Given the description of an element on the screen output the (x, y) to click on. 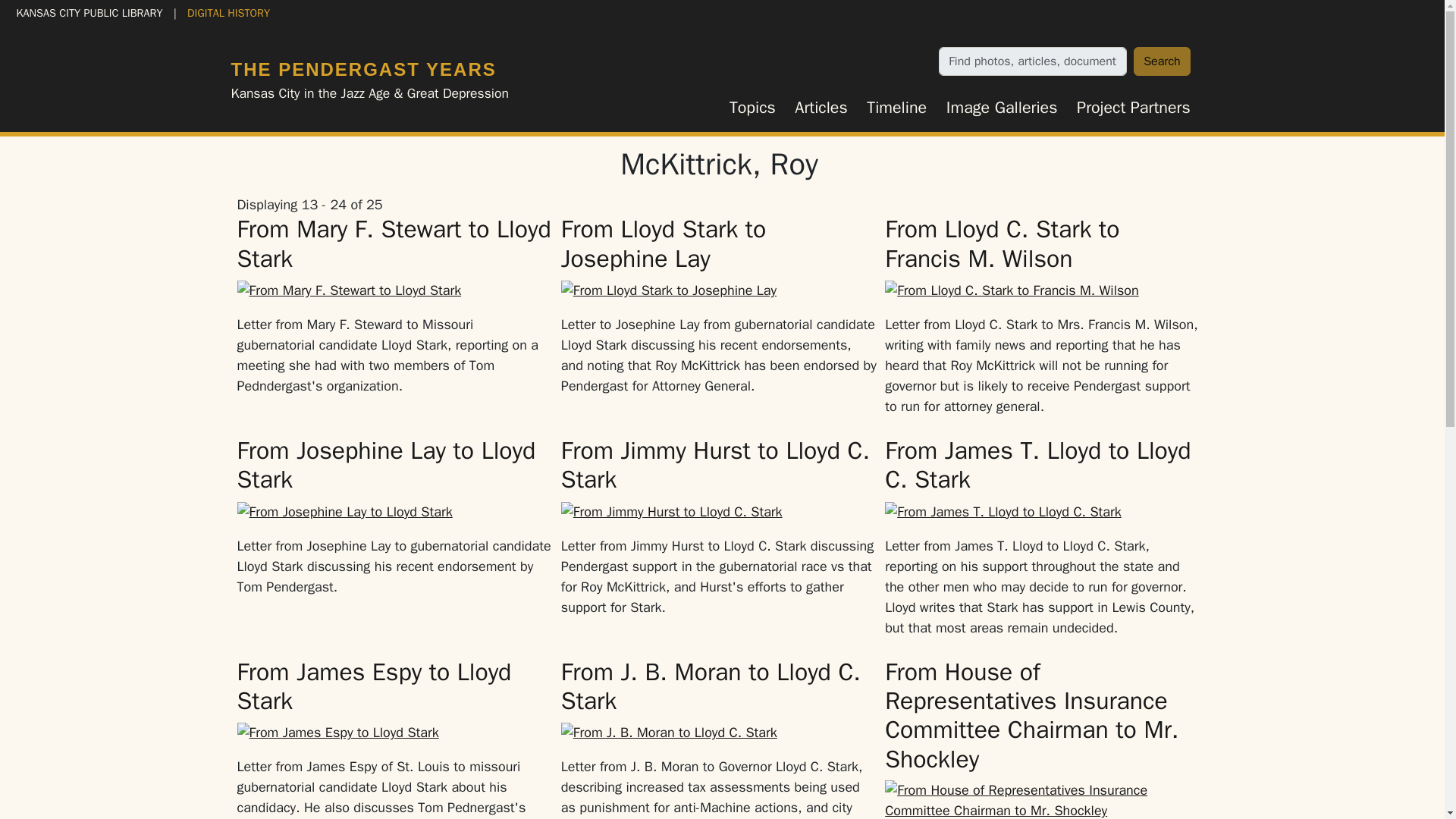
Articles (821, 107)
Skip to main content (67, 11)
From James T. Lloyd to Lloyd C. Stark (1038, 464)
From Josephine Lay to Lloyd Stark (385, 464)
Topics (751, 107)
Search (1162, 61)
Search (1162, 61)
THE PENDERGAST YEARS (363, 68)
Timeline (897, 107)
